Given the description of an element on the screen output the (x, y) to click on. 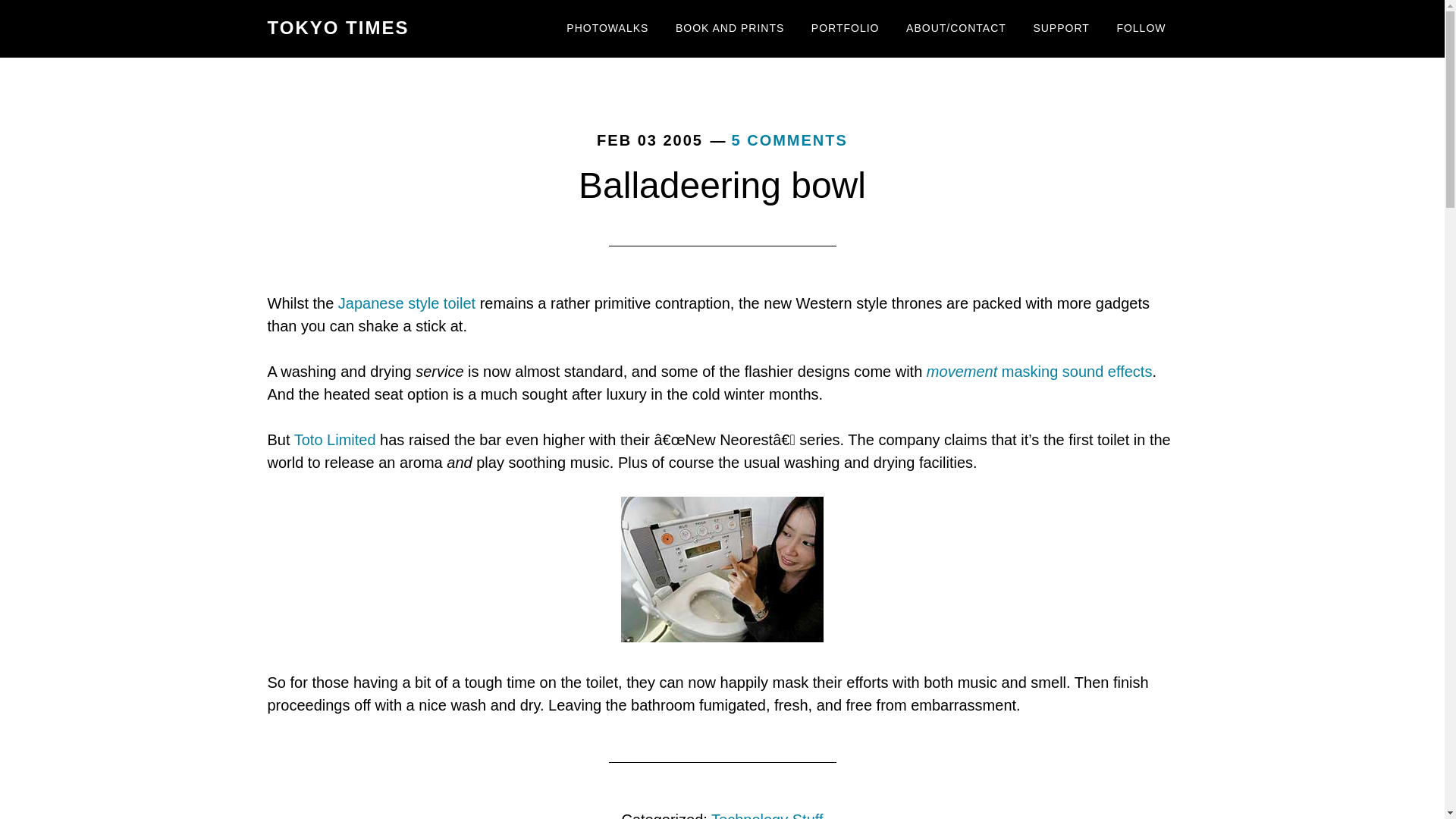
BOOK AND PRINTS (728, 28)
PHOTOWALKS (606, 28)
SUPPORT (1061, 28)
TOKYO TIMES (337, 27)
movement masking sound effects (1039, 371)
5 COMMENTS (789, 139)
Toto Limited (334, 439)
FOLLOW (1140, 28)
Japanese style toilet (406, 303)
PORTFOLIO (845, 28)
